Given the description of an element on the screen output the (x, y) to click on. 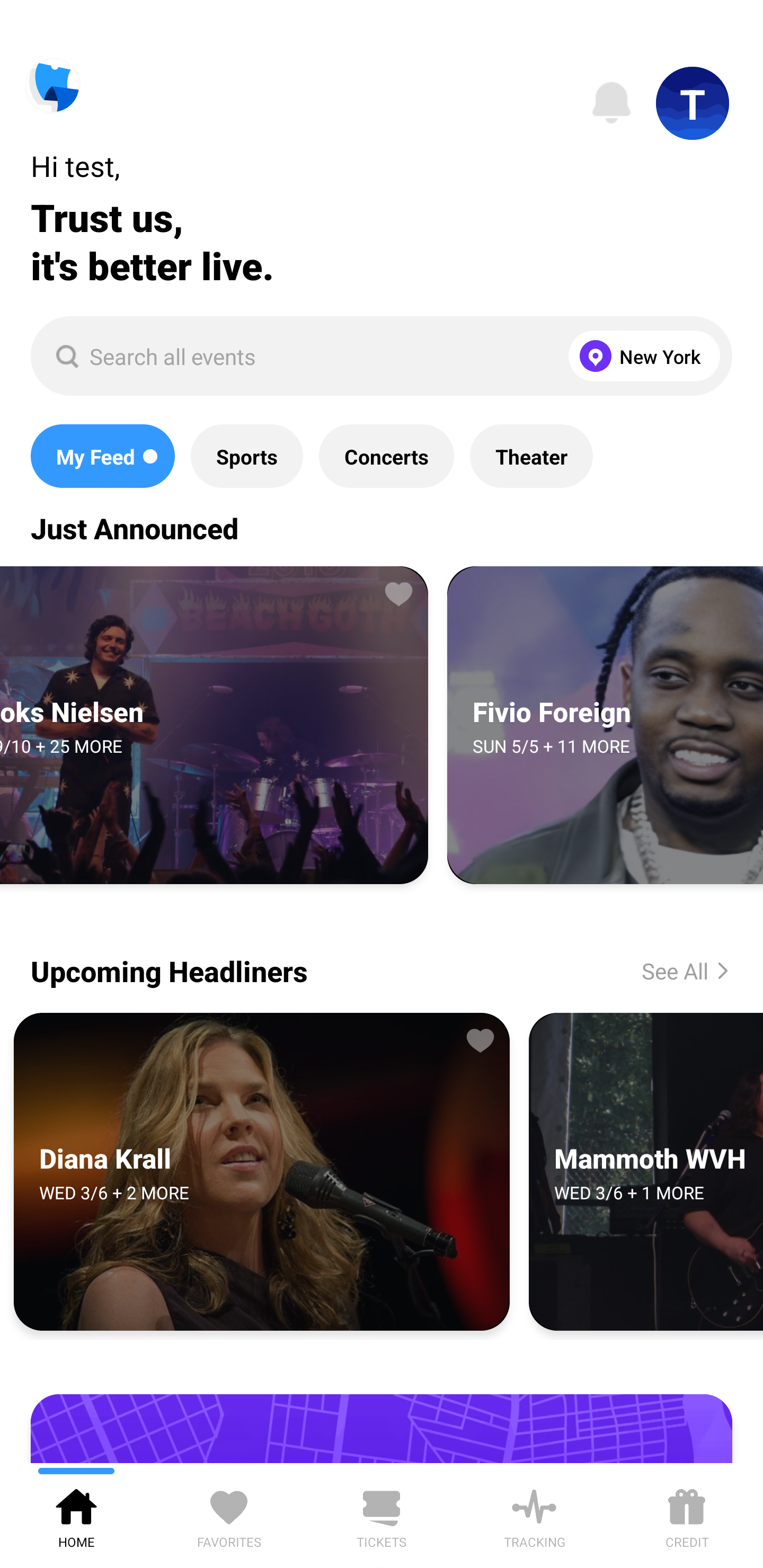
T (692, 103)
New York (640, 355)
My Feed (102, 455)
Sports (246, 455)
Concerts (385, 455)
Theater (531, 455)
See All  (670, 970)
HOME (76, 1515)
FAVORITES (228, 1515)
TICKETS (381, 1515)
TRACKING (533, 1515)
CREDIT (686, 1515)
